Given the description of an element on the screen output the (x, y) to click on. 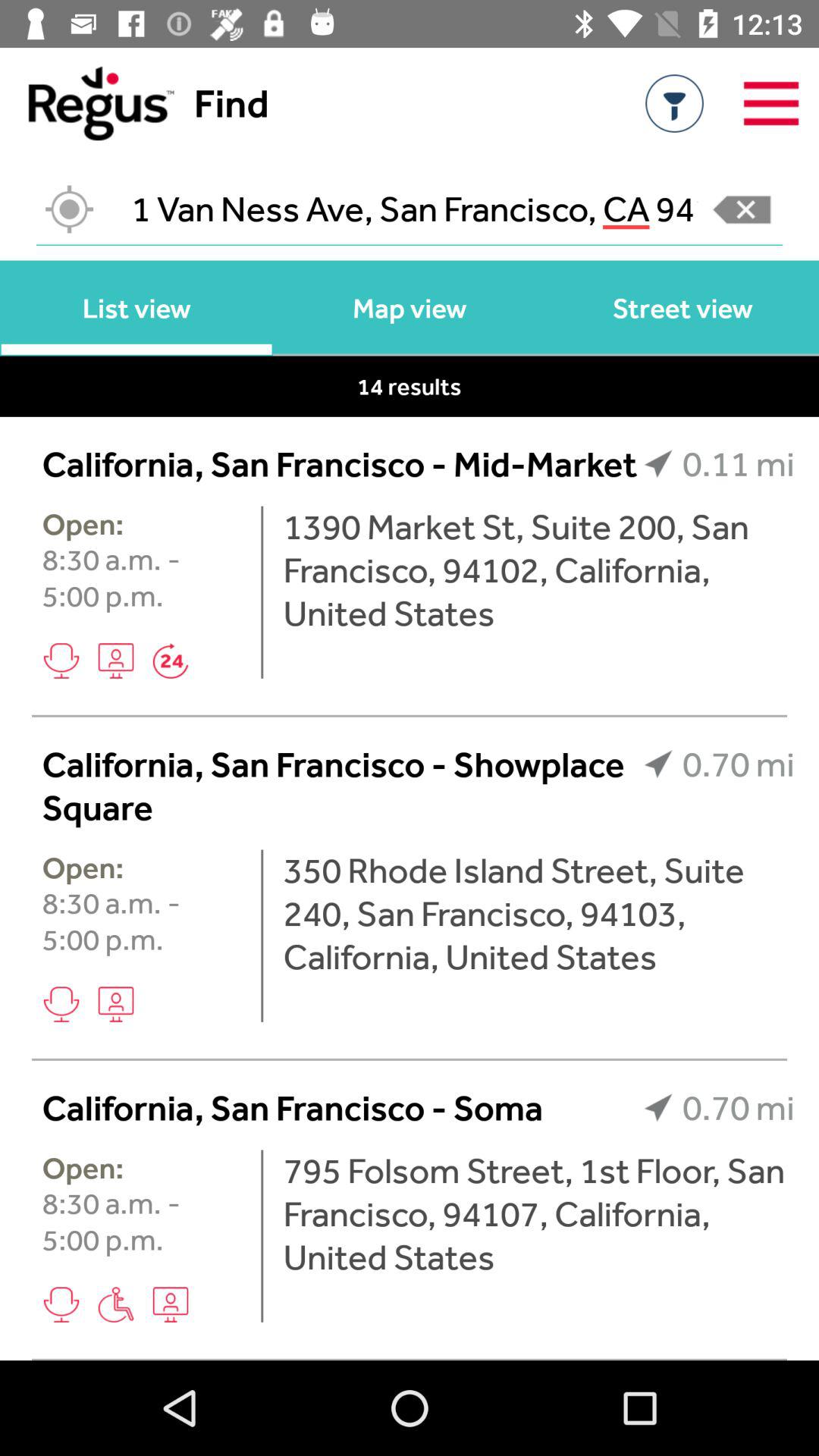
select the item below the california san francisco (262, 1236)
